Given the description of an element on the screen output the (x, y) to click on. 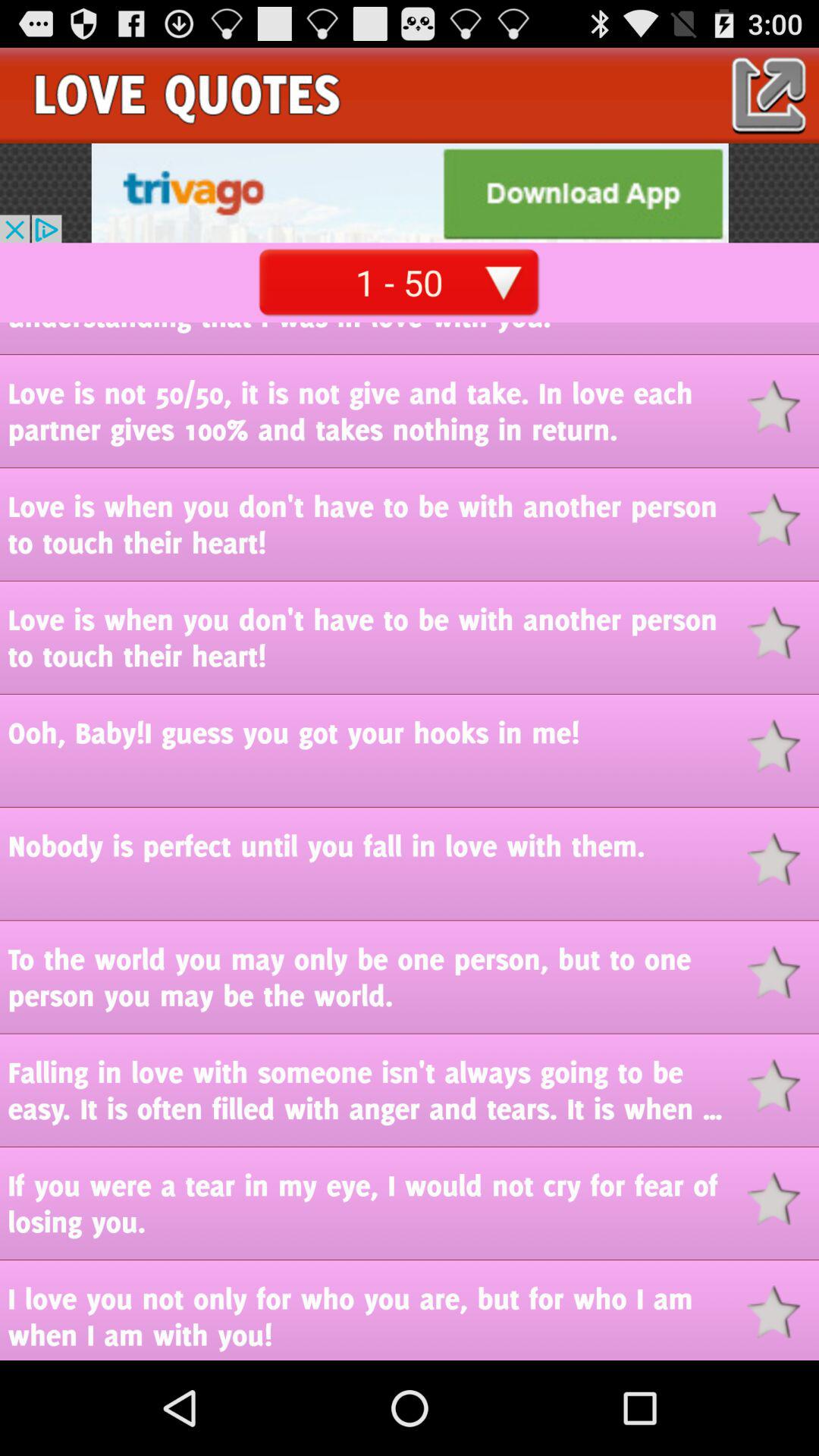
select the advertisement (409, 192)
